Given the description of an element on the screen output the (x, y) to click on. 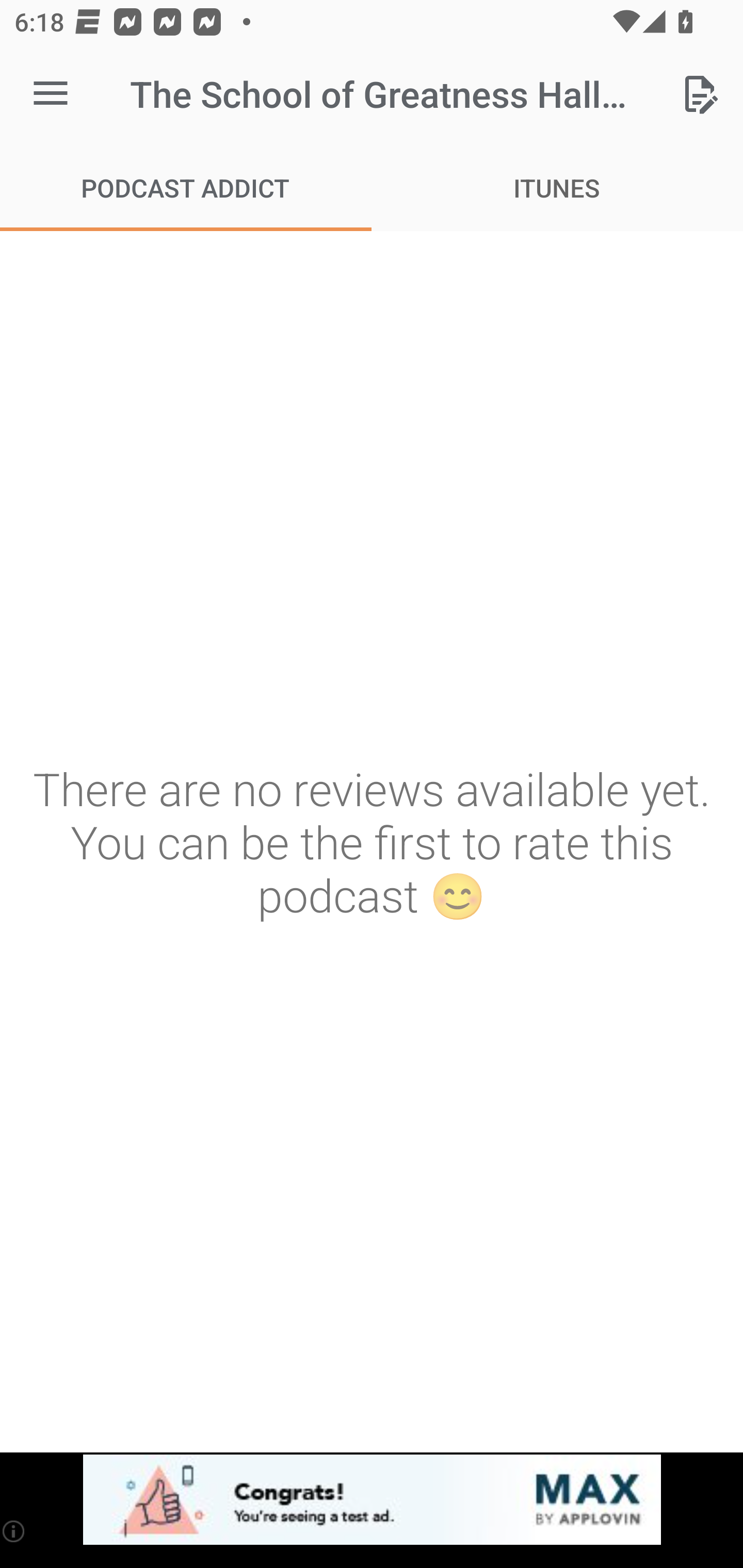
Open navigation sidebar (50, 93)
Rate this podcast (699, 93)
iTunes ITUNES (557, 187)
app-monetization (371, 1500)
(i) (14, 1531)
